Given the description of an element on the screen output the (x, y) to click on. 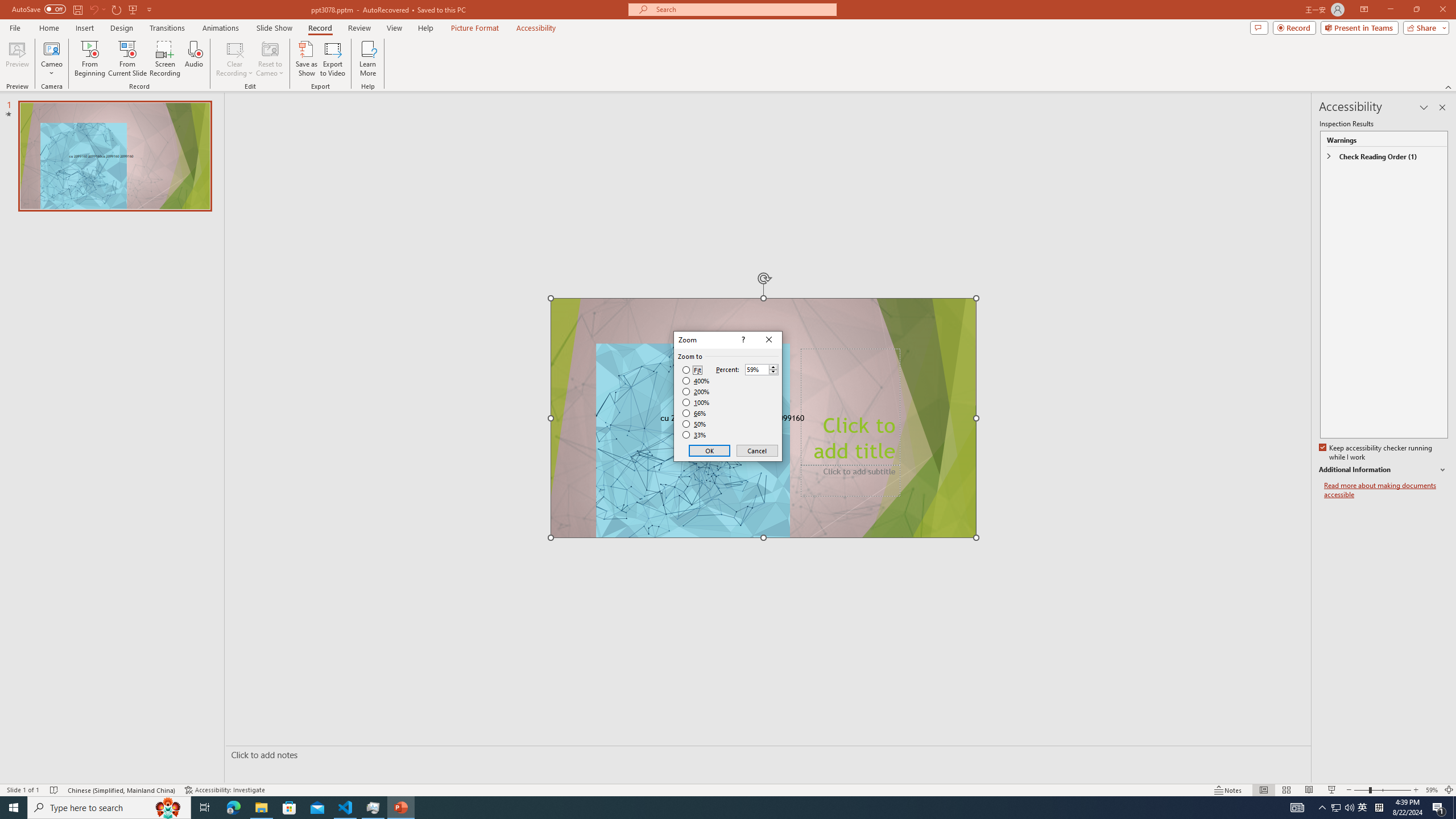
Screen Recording (165, 58)
Spell Check No Errors (54, 790)
Q2790: 100% (1349, 807)
Reset to Cameo (269, 58)
Less (772, 372)
Save as Show (306, 58)
Context help (742, 339)
Tray Input Indicator - Chinese (Simplified, China) (1378, 807)
File Explorer - 1 running window (261, 807)
